Given the description of an element on the screen output the (x, y) to click on. 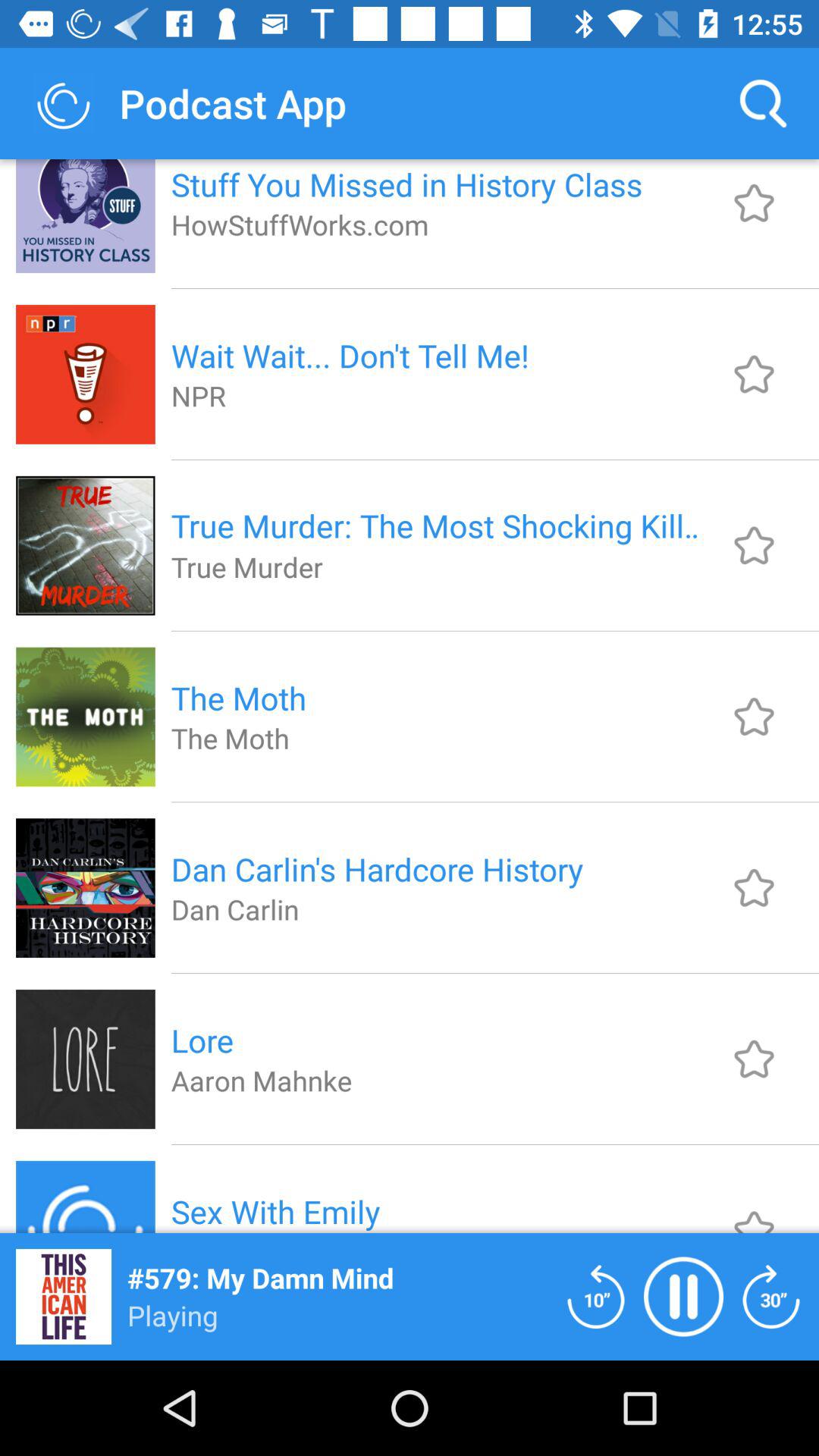
fast forward for 30 seconds (771, 1296)
